Given the description of an element on the screen output the (x, y) to click on. 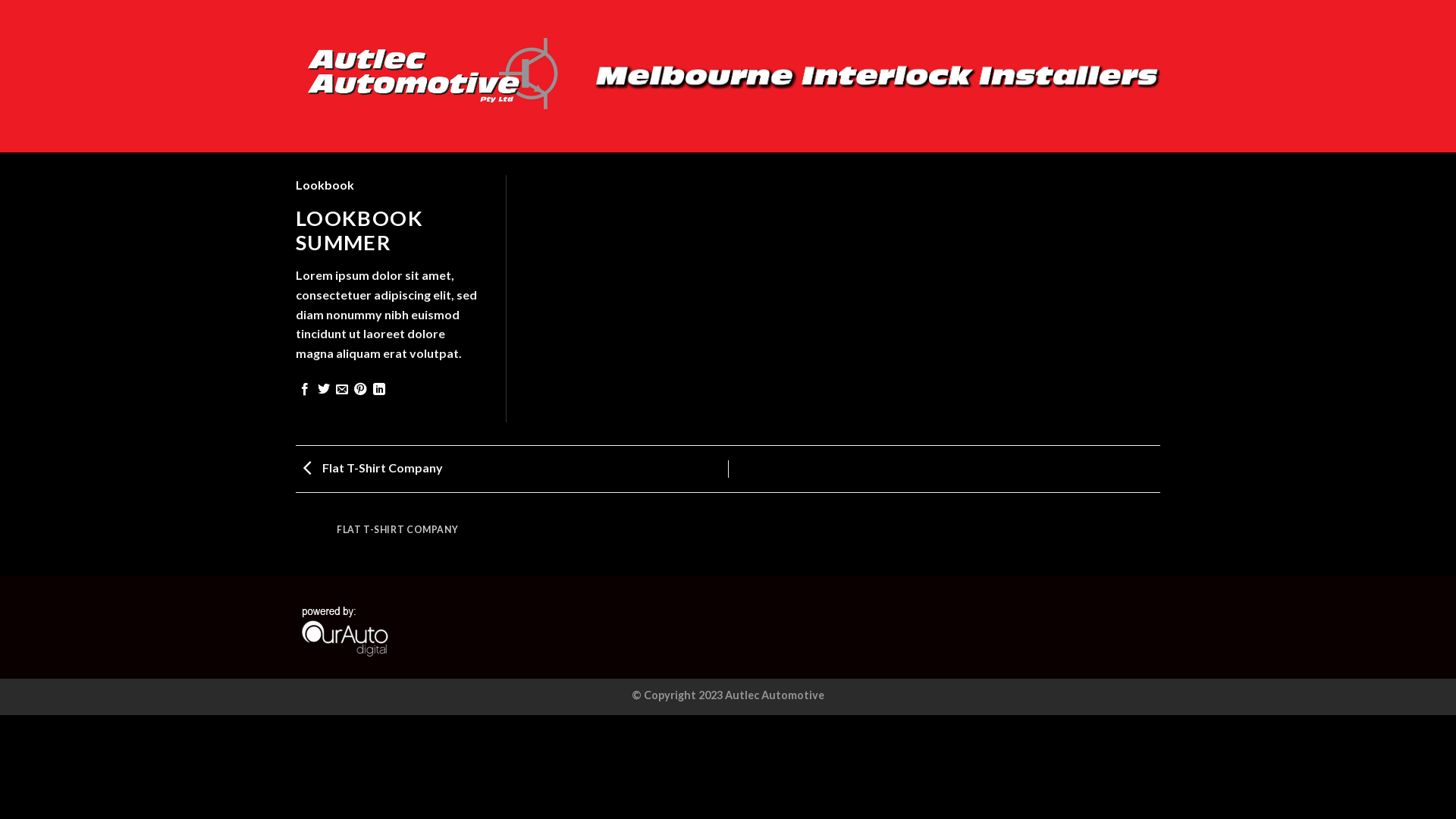
Flat T-Shirt Company Element type: text (368, 467)
Share on LinkedIn Element type: hover (379, 389)
Email to a Friend Element type: hover (341, 389)
FLAT T-SHIRT COMPANY Element type: text (397, 538)
Share on Facebook Element type: hover (304, 389)
Lookbook Element type: text (324, 184)
Share on Twitter Element type: hover (323, 389)
Autlec Automotive - Interlock Installers Element type: hover (431, 76)
Pin on Pinterest Element type: hover (360, 389)
